Given the description of an element on the screen output the (x, y) to click on. 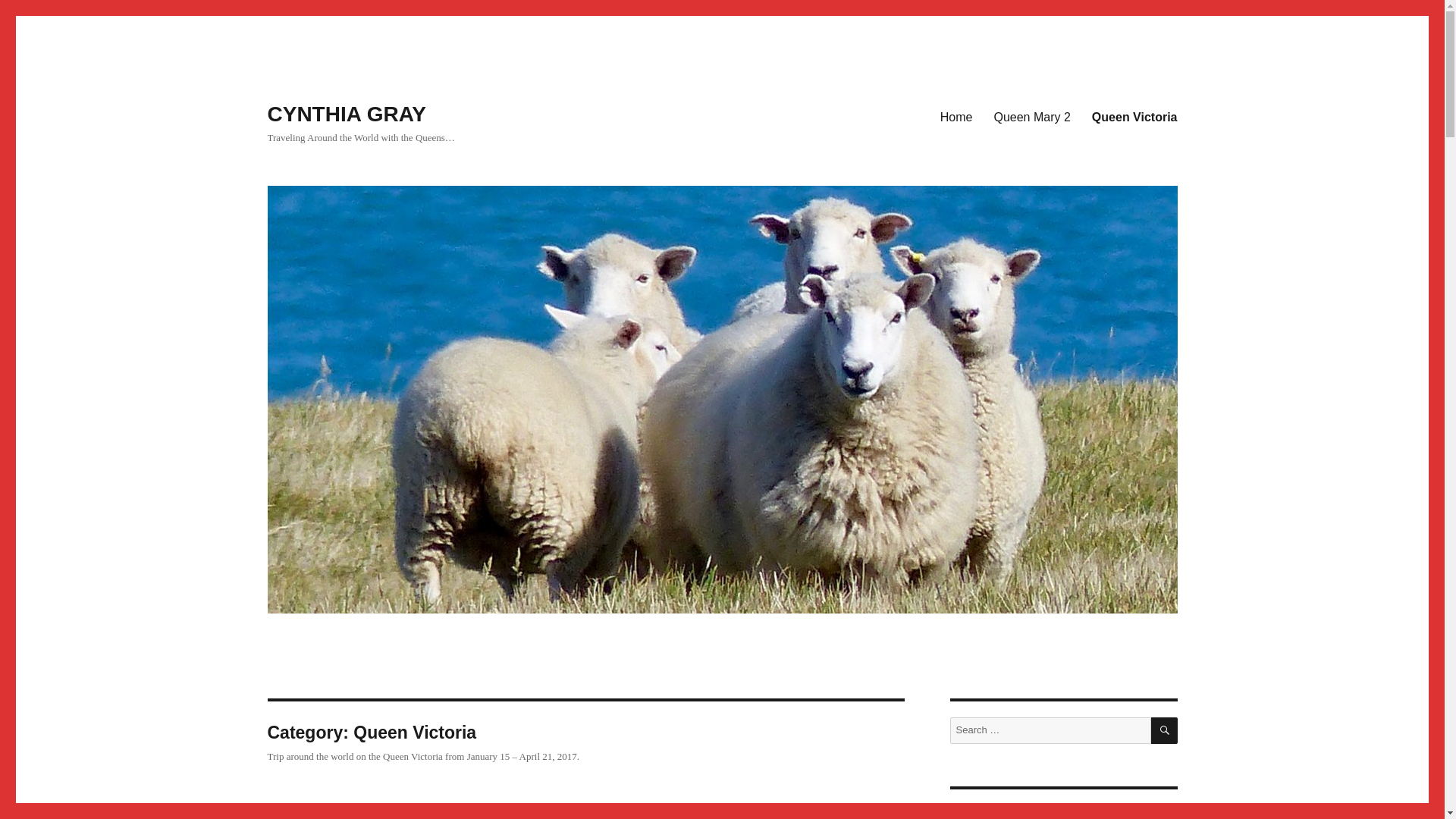
Queen Mary 2 (1031, 116)
Home (957, 116)
CYNTHIA GRAY (346, 114)
SEARCH (1164, 730)
Queen Victoria (1134, 116)
